Given the description of an element on the screen output the (x, y) to click on. 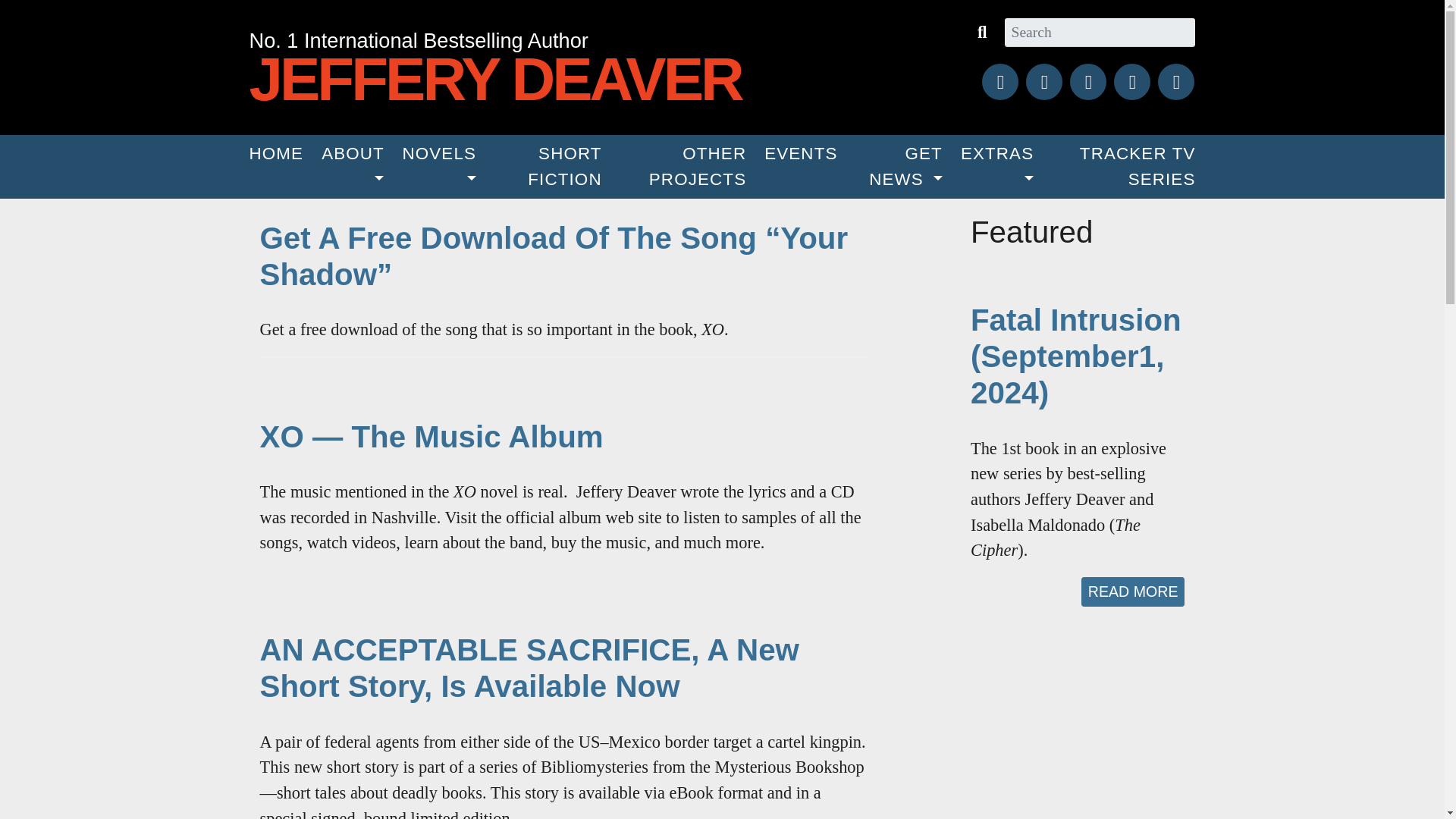
HOME (276, 153)
Events (800, 153)
Facebook (1044, 81)
GET NEWS (899, 166)
NOVELS (438, 166)
Novels (438, 166)
About (353, 166)
SHORT FICTION (547, 166)
EVENTS (800, 153)
TRACKER TV SERIES (1123, 166)
RSS (1175, 81)
JEFFERY DEAVER (519, 79)
OTHER PROJECTS (683, 166)
Contact (1131, 81)
EXTRAS (997, 166)
